Given the description of an element on the screen output the (x, y) to click on. 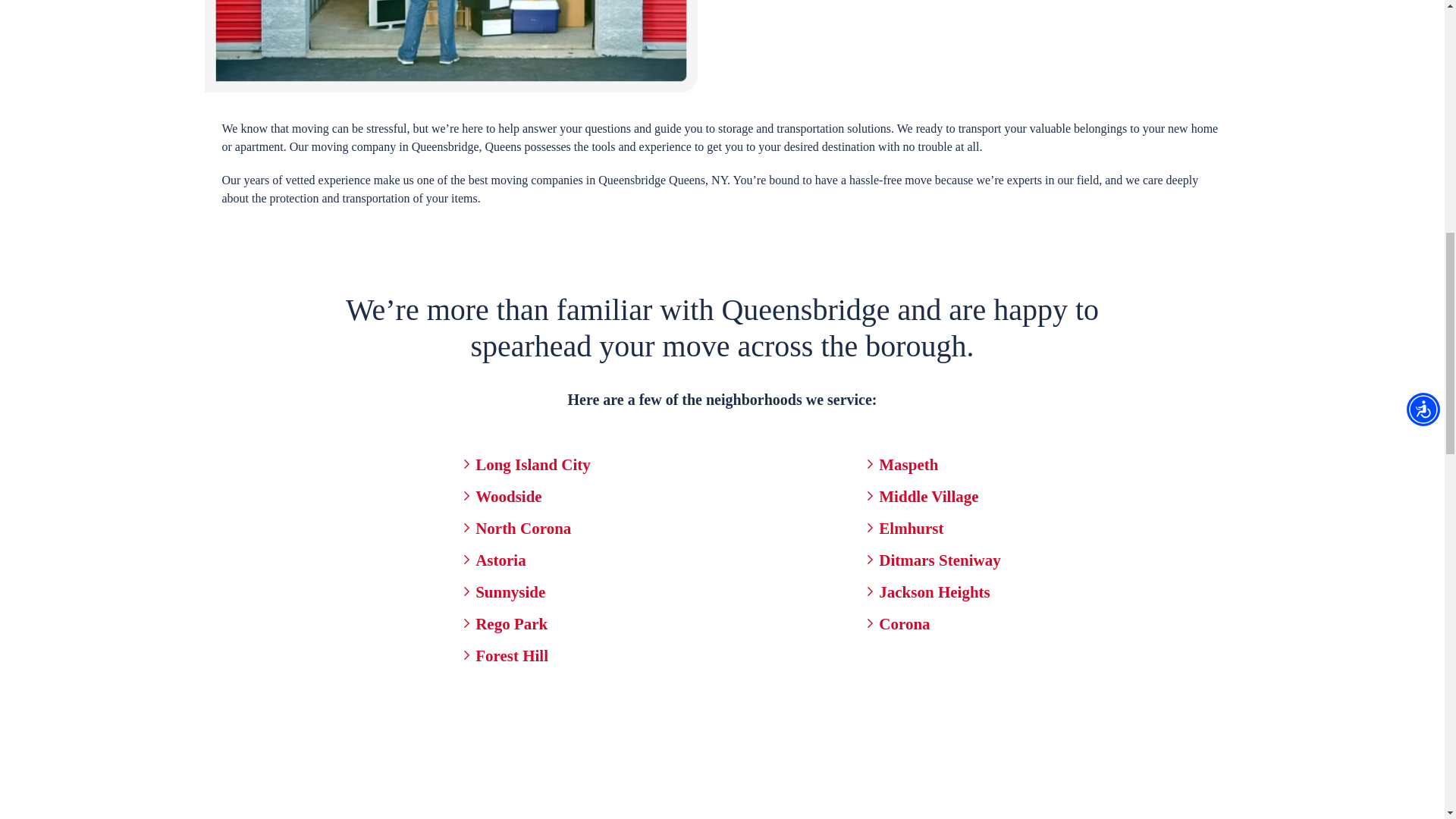
171664262 (451, 45)
